Given the description of an element on the screen output the (x, y) to click on. 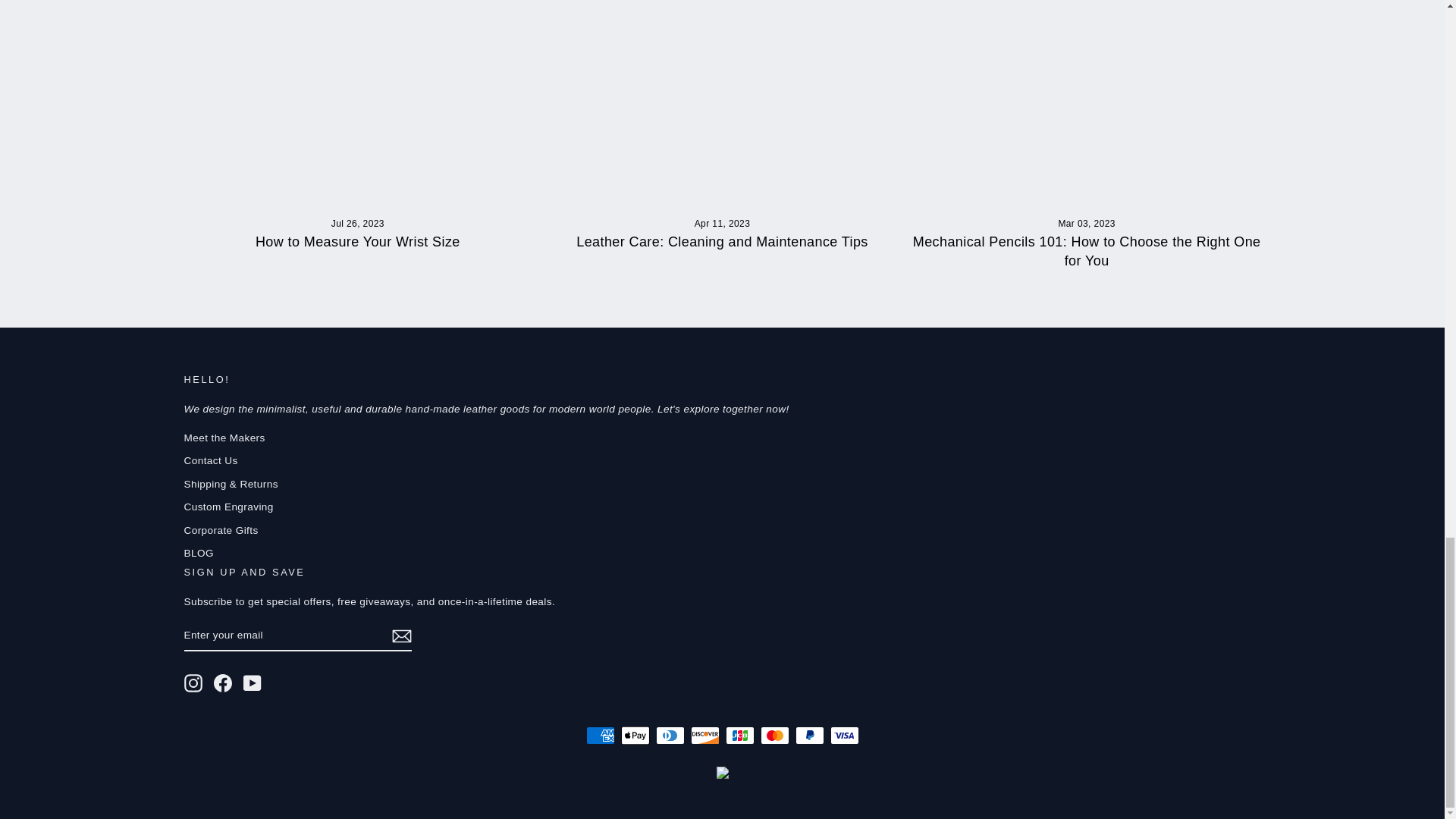
JCB (739, 735)
Diners Club (669, 735)
American Express (599, 735)
Apple Pay (634, 735)
Mastercard (774, 735)
PayPal (809, 735)
Roarcraft on Instagram (192, 683)
Discover (704, 735)
Roarcraft on YouTube (251, 683)
Roarcraft on Facebook (222, 683)
Visa (844, 735)
